Given the description of an element on the screen output the (x, y) to click on. 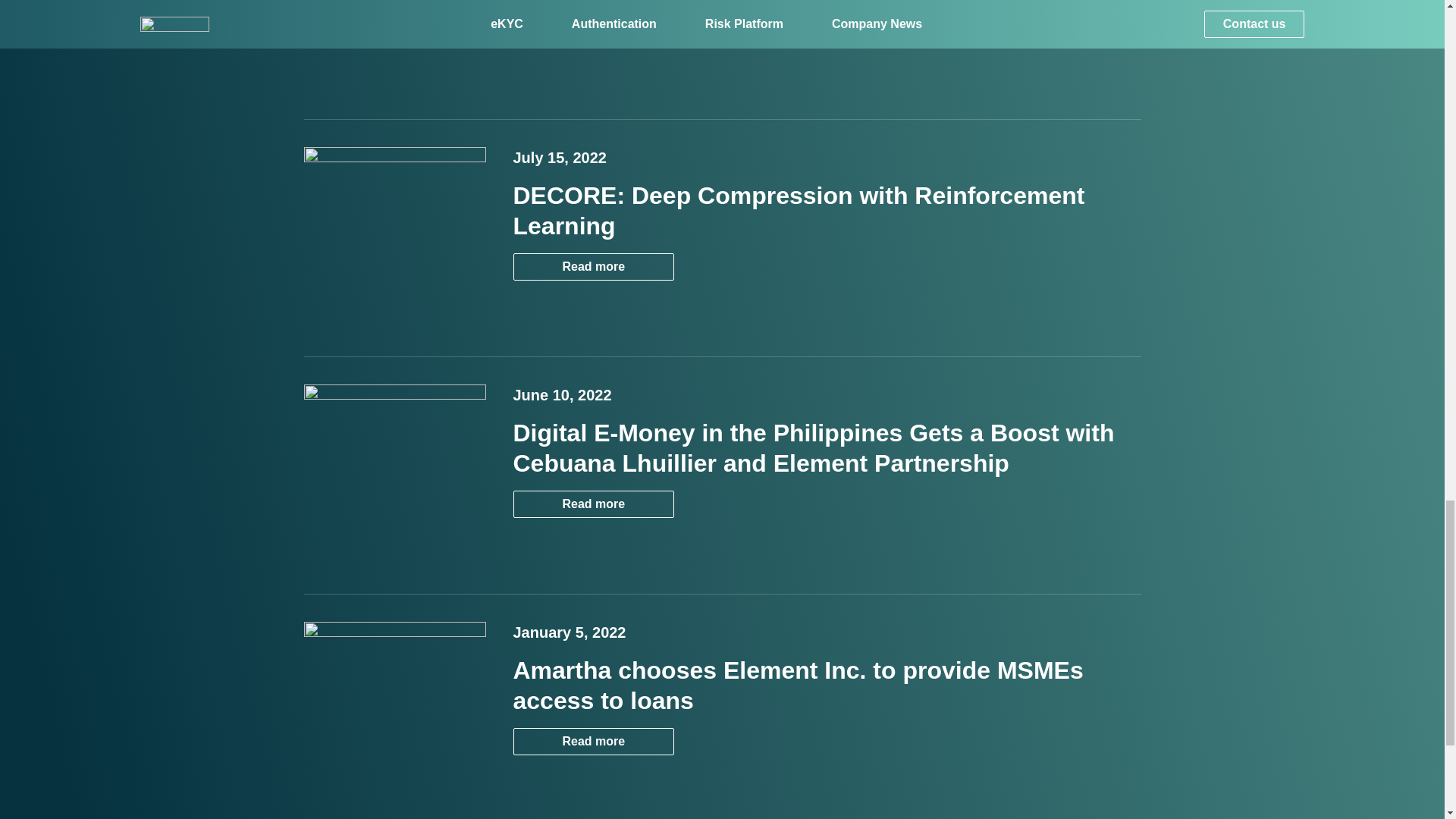
Read more (593, 740)
Read more (593, 6)
Read more (593, 503)
Read more (593, 503)
Read more (593, 266)
Read more (593, 741)
Read more (593, 266)
Read more (593, 2)
